Given the description of an element on the screen output the (x, y) to click on. 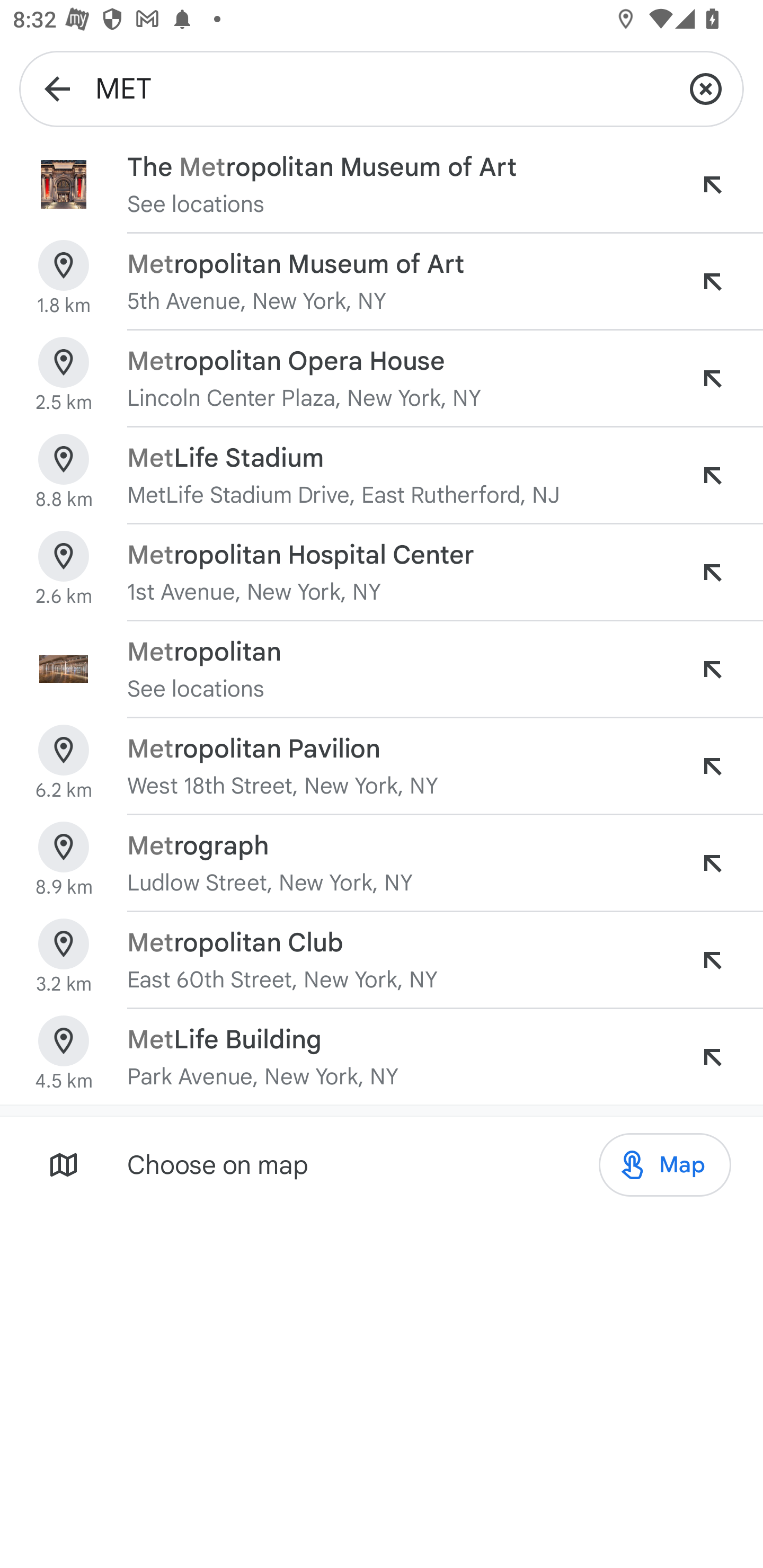
Navigate up (57, 88)
MET (381, 88)
Clear (705, 88)
Choose on map Map Map Map (381, 1164)
Map Map Map (664, 1164)
